Given the description of an element on the screen output the (x, y) to click on. 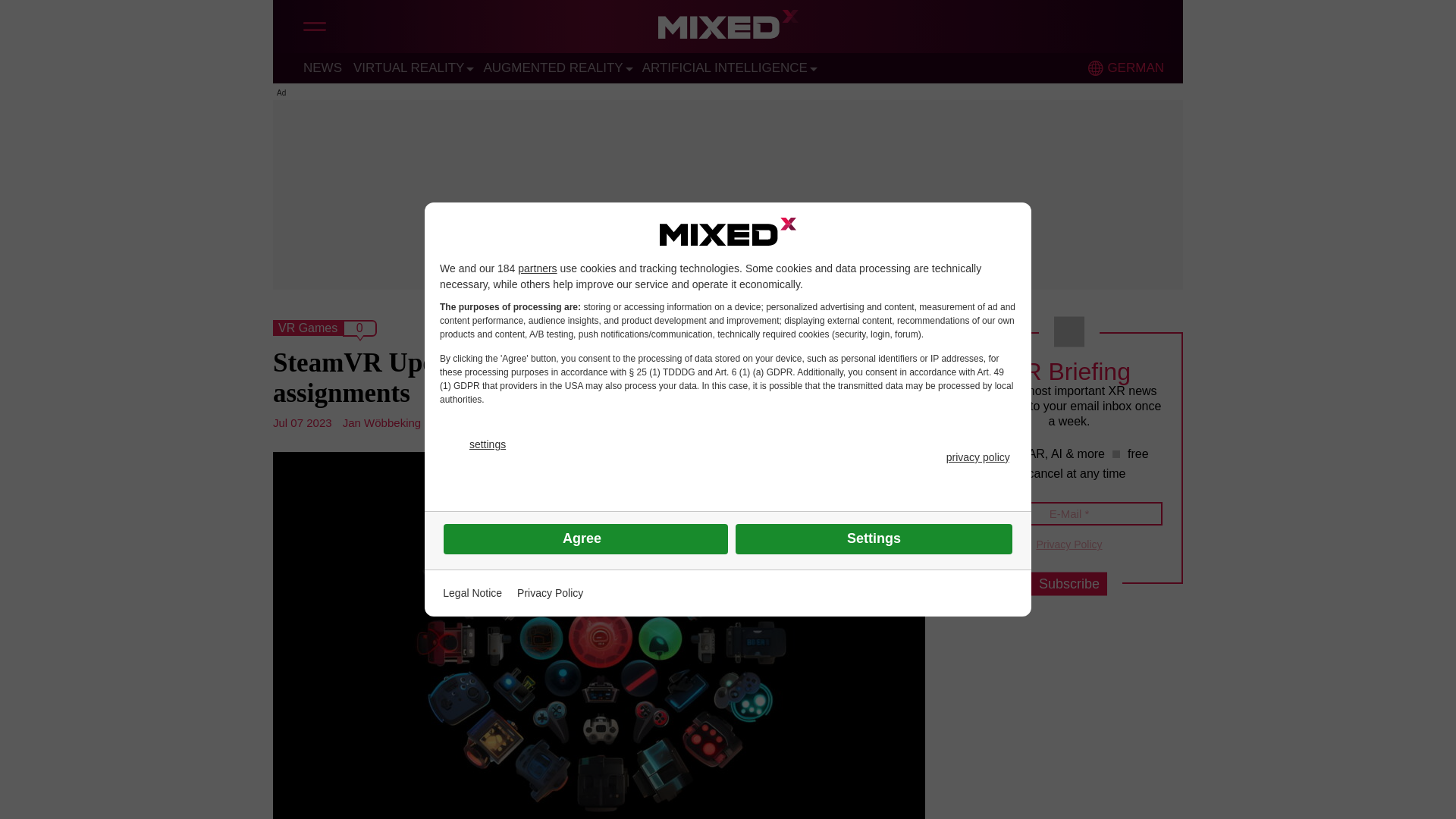
AUGMENTED REALITY (553, 67)
MIXED Reality News (727, 28)
Jul 07 2023 (302, 422)
NEWS (322, 67)
Subscribe (1068, 584)
VIRTUAL REALITY (408, 67)
MIXED Reality News (727, 28)
german (1095, 68)
ARTIFICIAL INTELLIGENCE (725, 67)
